Given the description of an element on the screen output the (x, y) to click on. 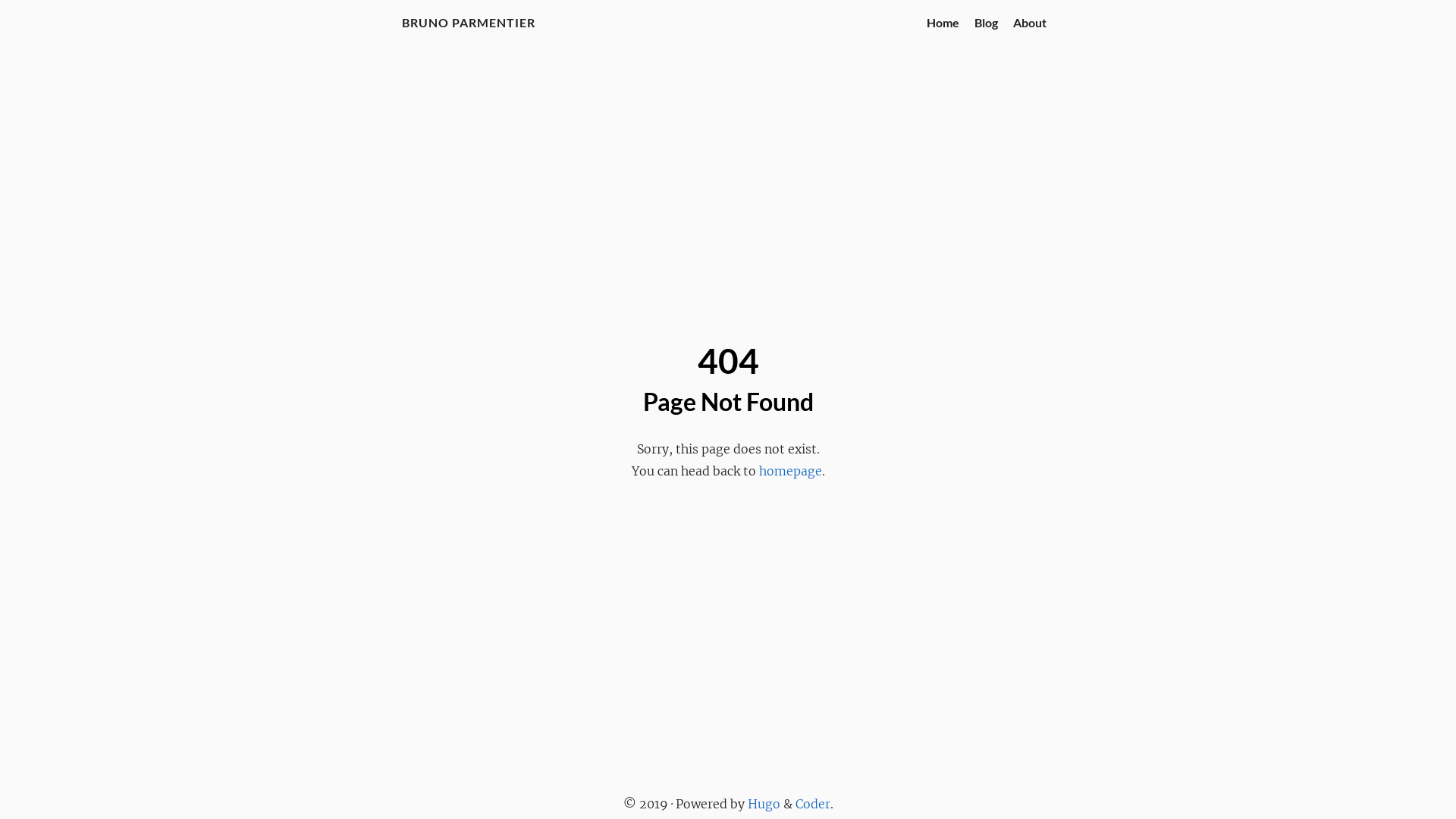
Home Element type: text (942, 22)
Coder Element type: text (811, 803)
Blog Element type: text (985, 22)
homepage Element type: text (789, 470)
BRUNO PARMENTIER Element type: text (468, 22)
About Element type: text (1029, 22)
Hugo Element type: text (763, 803)
